Given the description of an element on the screen output the (x, y) to click on. 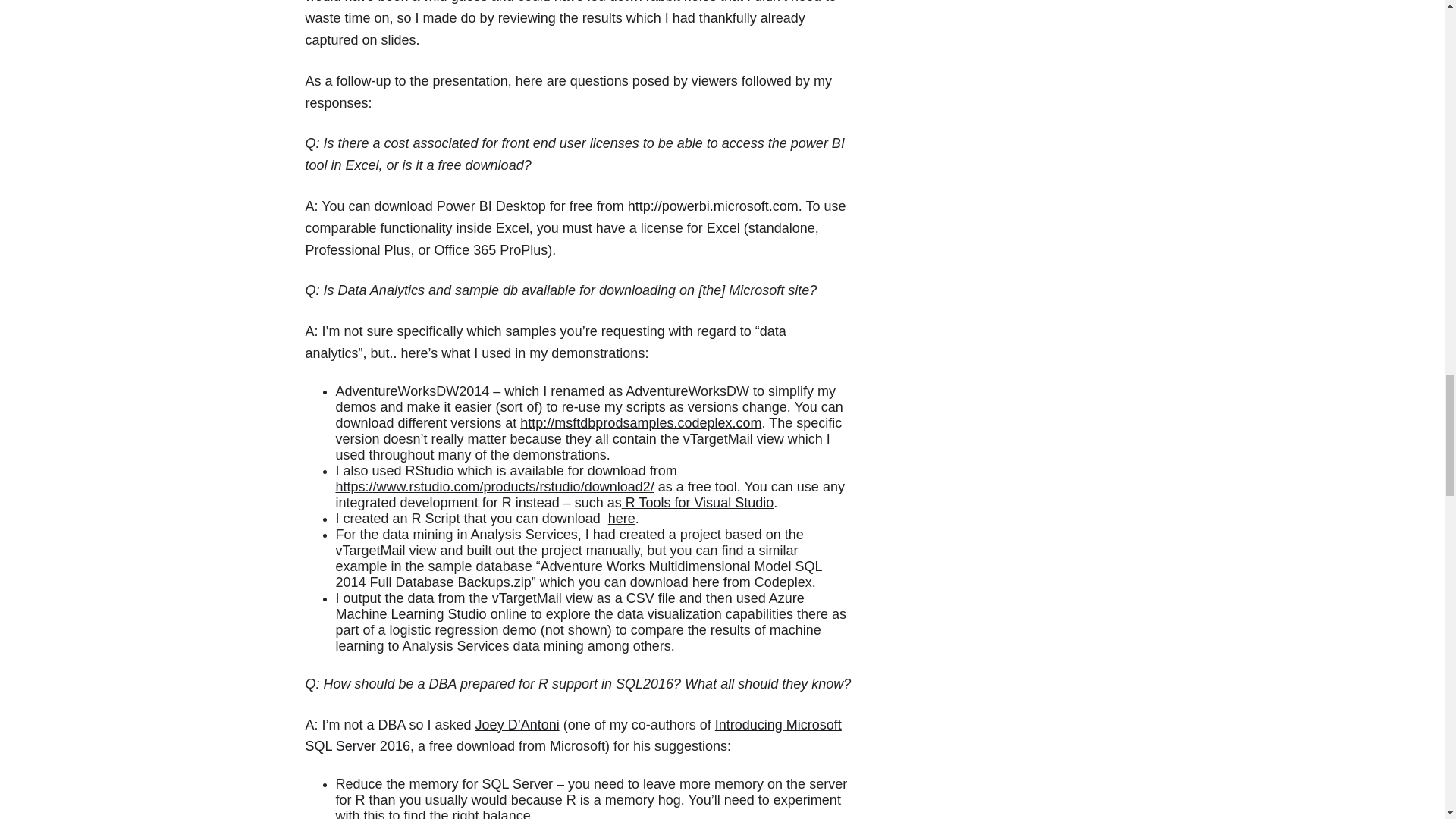
R Tools for Visual Studio (697, 502)
here (621, 518)
Azure Machine Learning Studio (568, 605)
Introducing Microsoft SQL Server 2016 (572, 735)
here (706, 581)
